Given the description of an element on the screen output the (x, y) to click on. 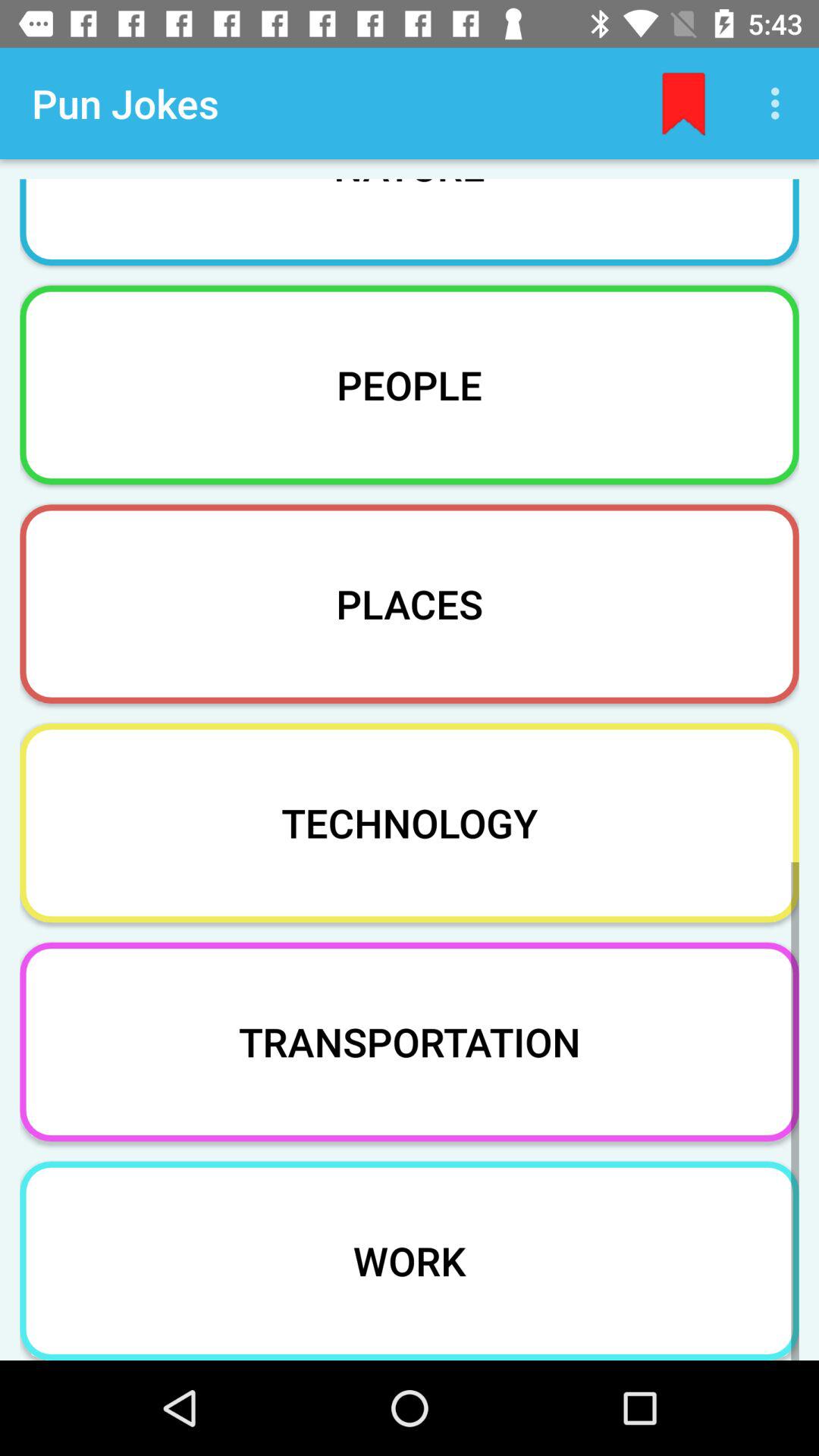
select the item above people item (409, 212)
